Given the description of an element on the screen output the (x, y) to click on. 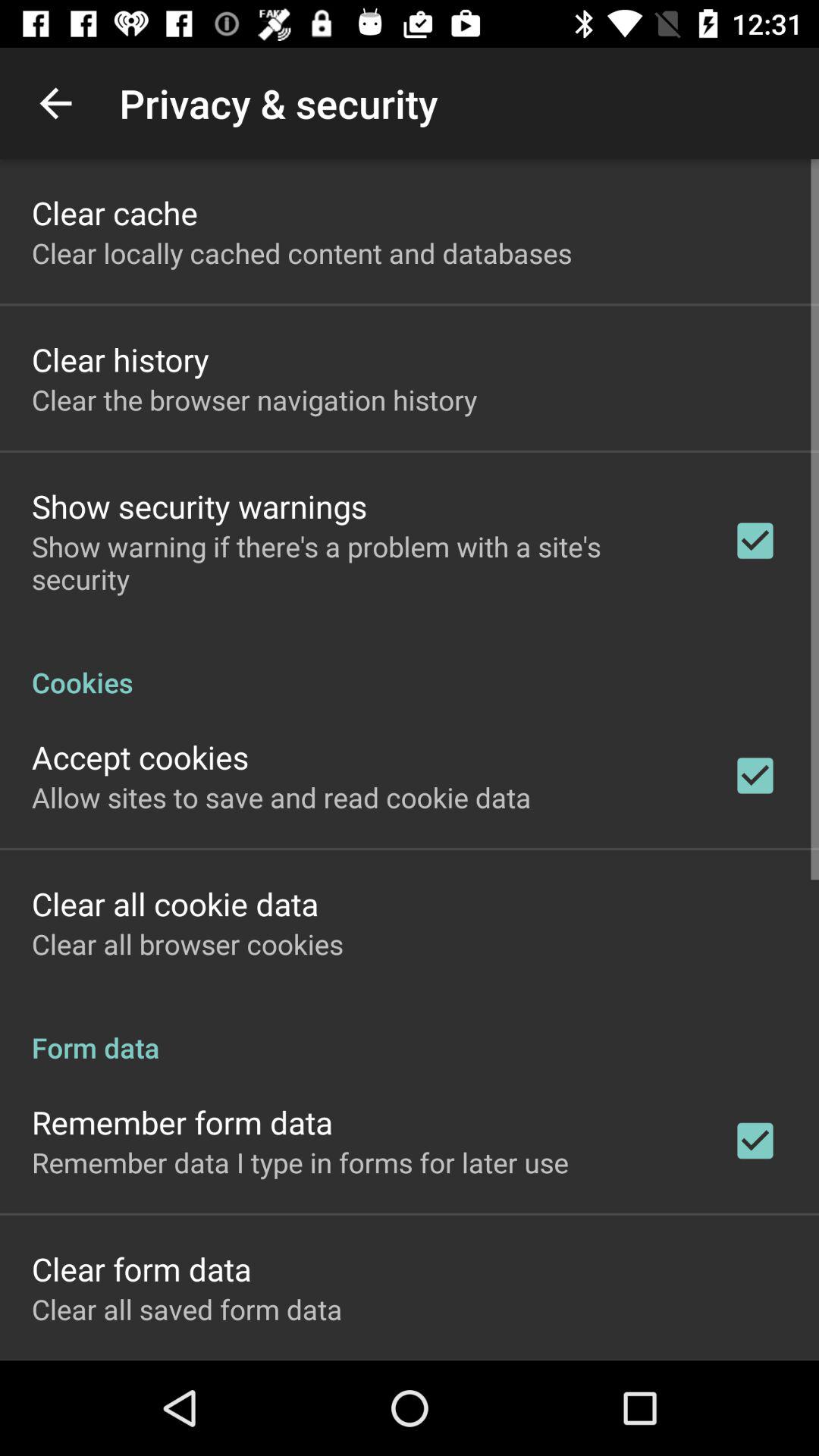
launch icon above the clear all cookie icon (281, 797)
